Given the description of an element on the screen output the (x, y) to click on. 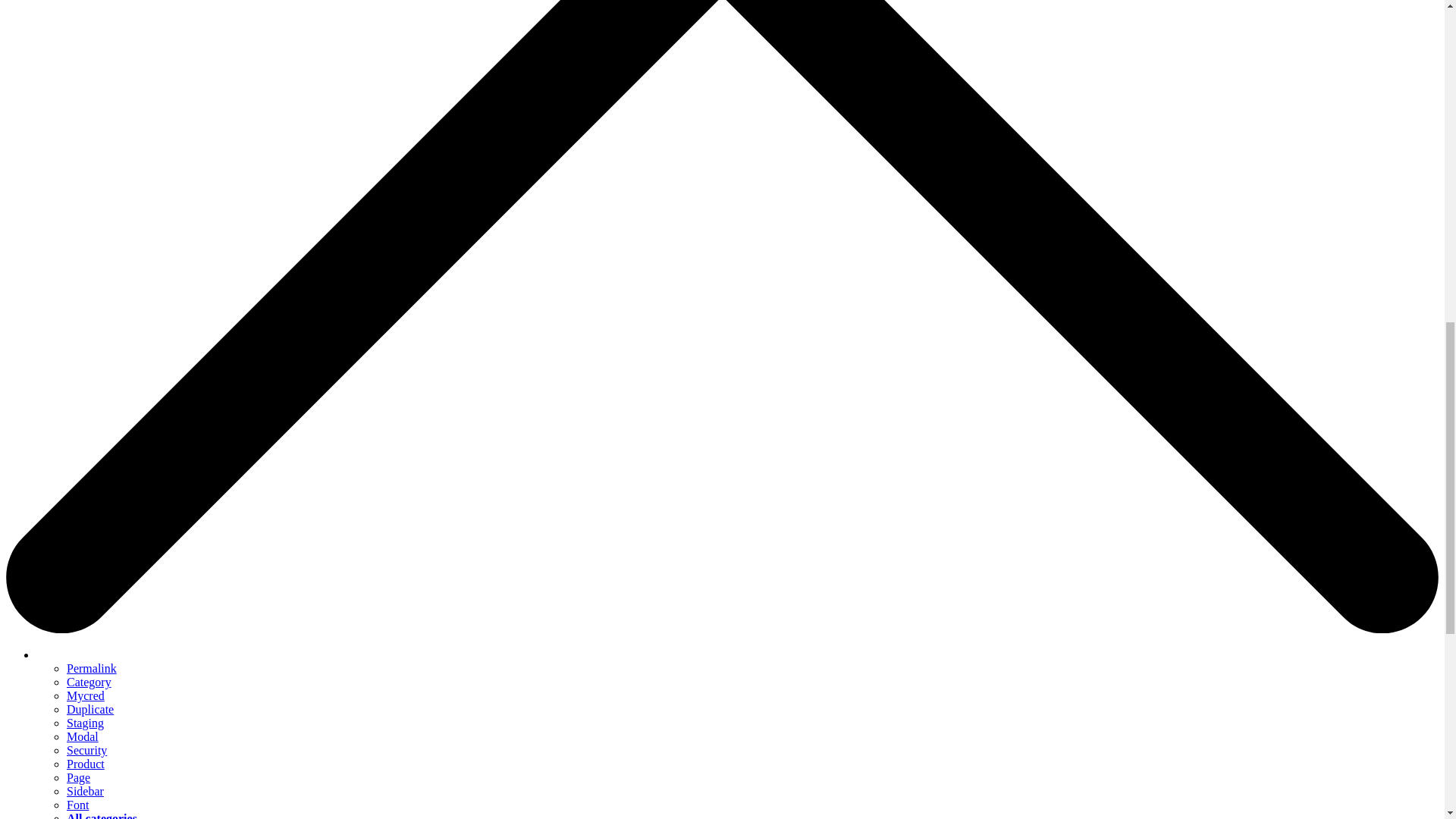
Permalink (91, 667)
Sidebar (84, 790)
Duplicate (89, 708)
Staging (84, 722)
Security (86, 749)
Modal (82, 736)
Page (78, 777)
Mycred (85, 695)
Category (89, 681)
Font (77, 804)
All categories (101, 815)
Product (85, 763)
